Given the description of an element on the screen output the (x, y) to click on. 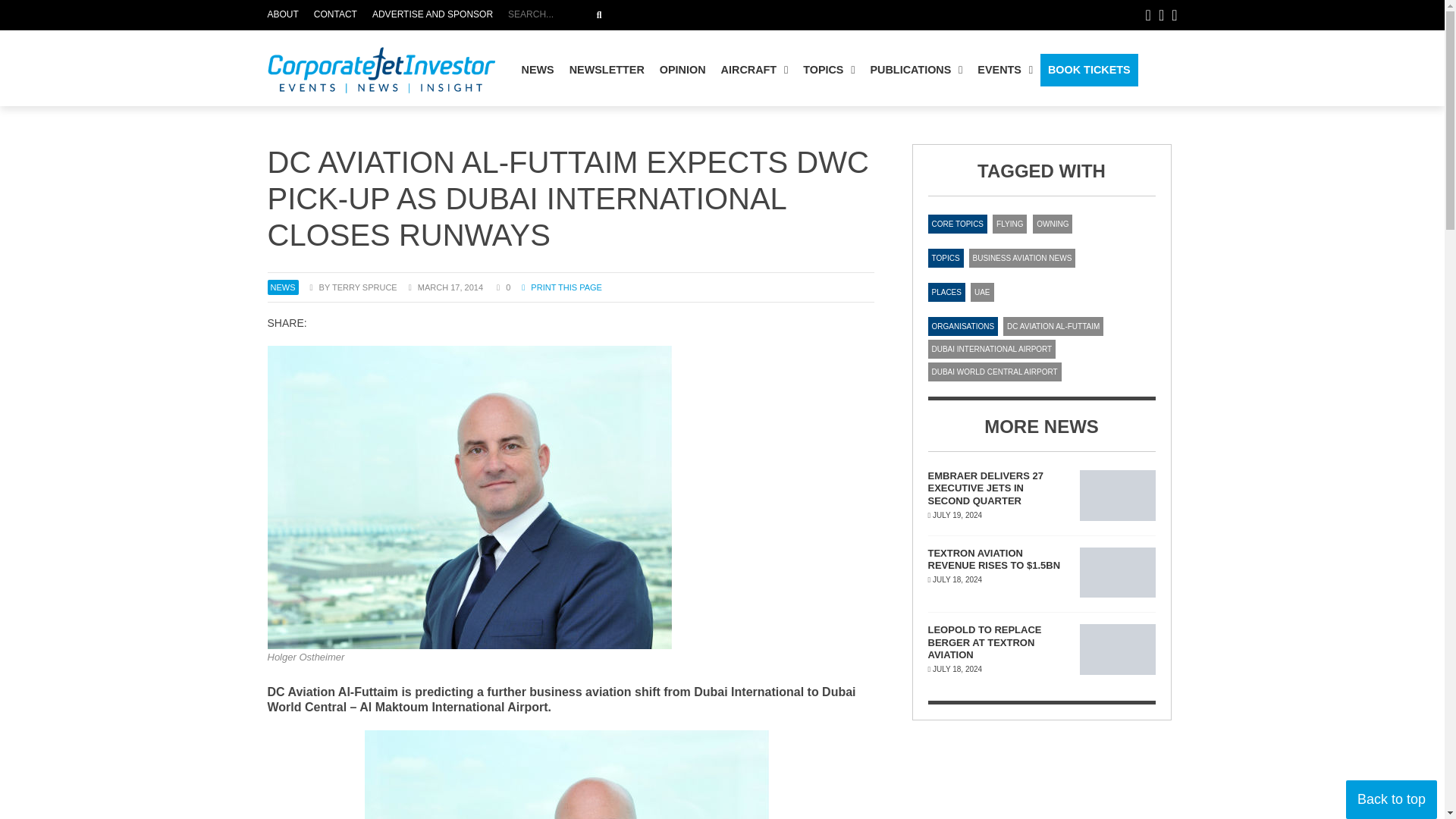
NEWS (537, 70)
Go to top (1391, 799)
OPINION (682, 70)
ADVERTISE AND SPONSOR (432, 15)
AIRCRAFT (754, 70)
EVENTS (1005, 70)
PUBLICATIONS (683, 15)
NEWSLETTER (915, 70)
ABOUT (607, 70)
CONTACT (285, 15)
